Given the description of an element on the screen output the (x, y) to click on. 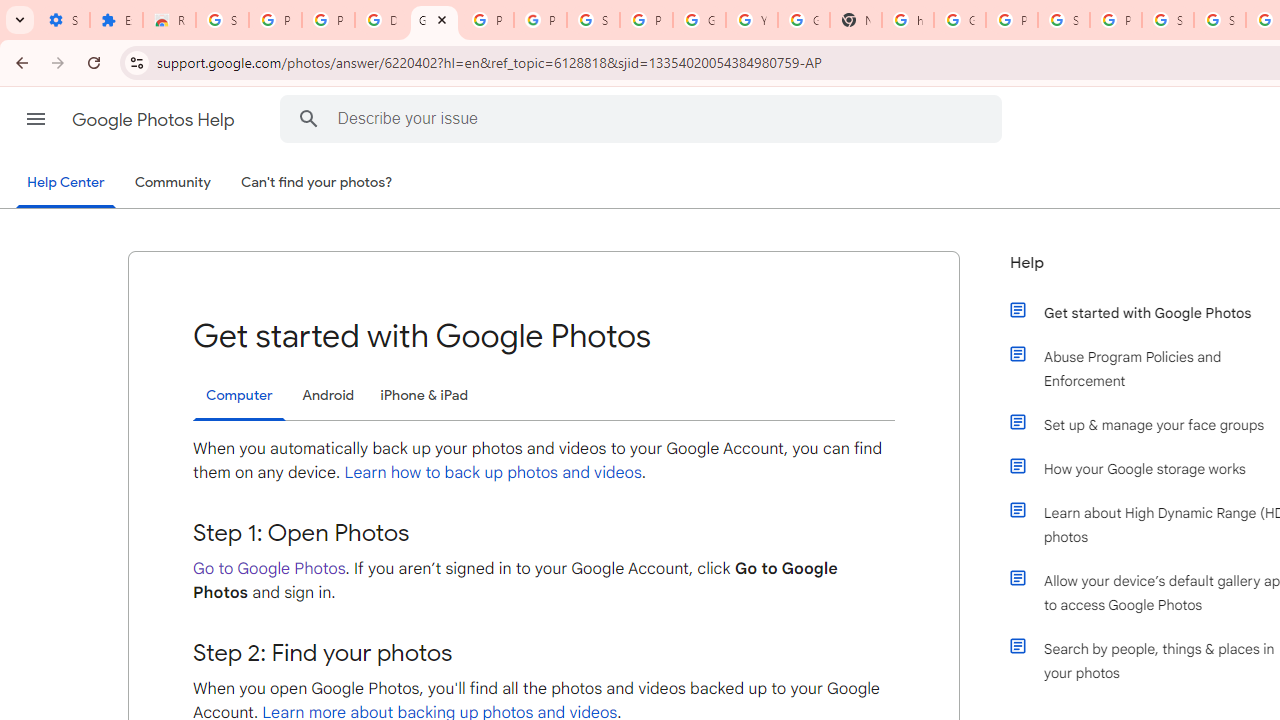
Settings - On startup (63, 20)
https://scholar.google.com/ (907, 20)
Community (171, 183)
New Tab (855, 20)
iPhone & iPad (424, 395)
Android (328, 395)
Sign in - Google Accounts (1219, 20)
Can't find your photos? (317, 183)
Learn how to back up photos and videos (493, 472)
